Given the description of an element on the screen output the (x, y) to click on. 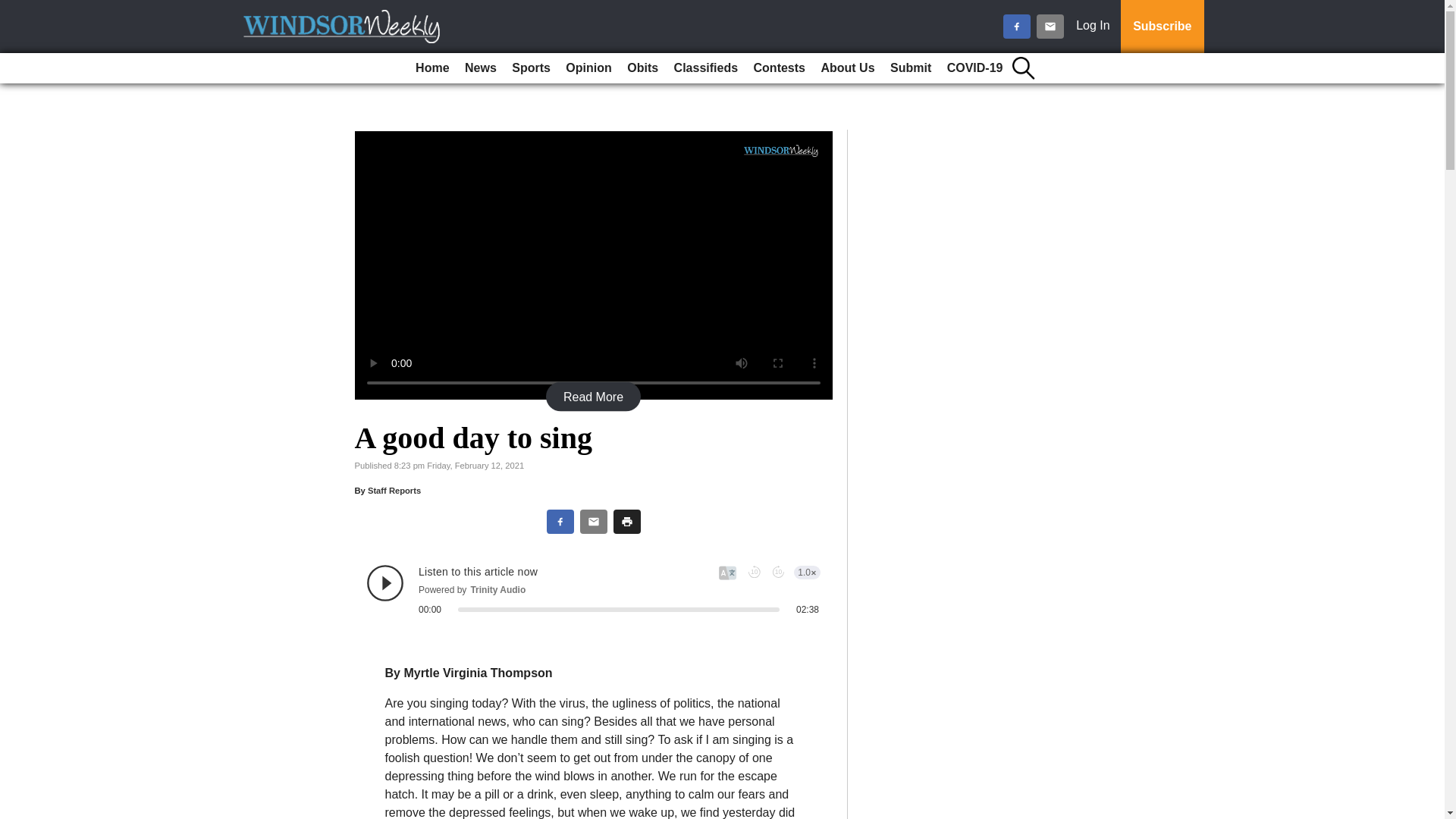
Log In (1095, 26)
Go (13, 9)
Submit (910, 68)
Opinion (588, 68)
Trinity Audio Player (592, 589)
Staff Reports (394, 490)
Obits (642, 68)
News (480, 68)
About Us (846, 68)
COVID-19 (974, 68)
Sports (530, 68)
Classifieds (706, 68)
Contests (779, 68)
